Given the description of an element on the screen output the (x, y) to click on. 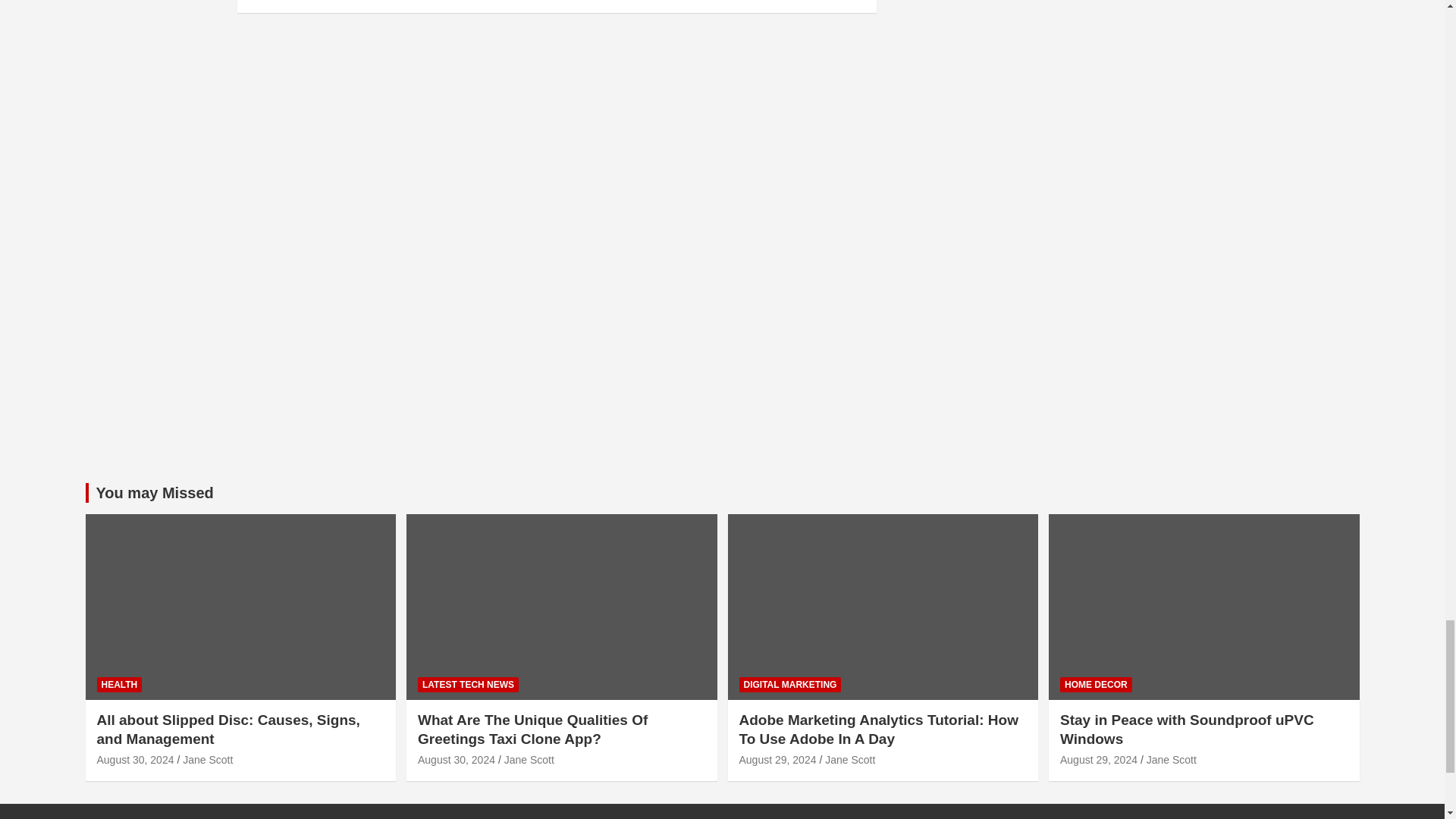
Stay in Peace with Soundproof uPVC Windows (1098, 759)
What Are The Unique Qualities Of Greetings Taxi Clone App? (456, 759)
All about Slipped Disc: Causes, Signs, and Management (135, 759)
